Given the description of an element on the screen output the (x, y) to click on. 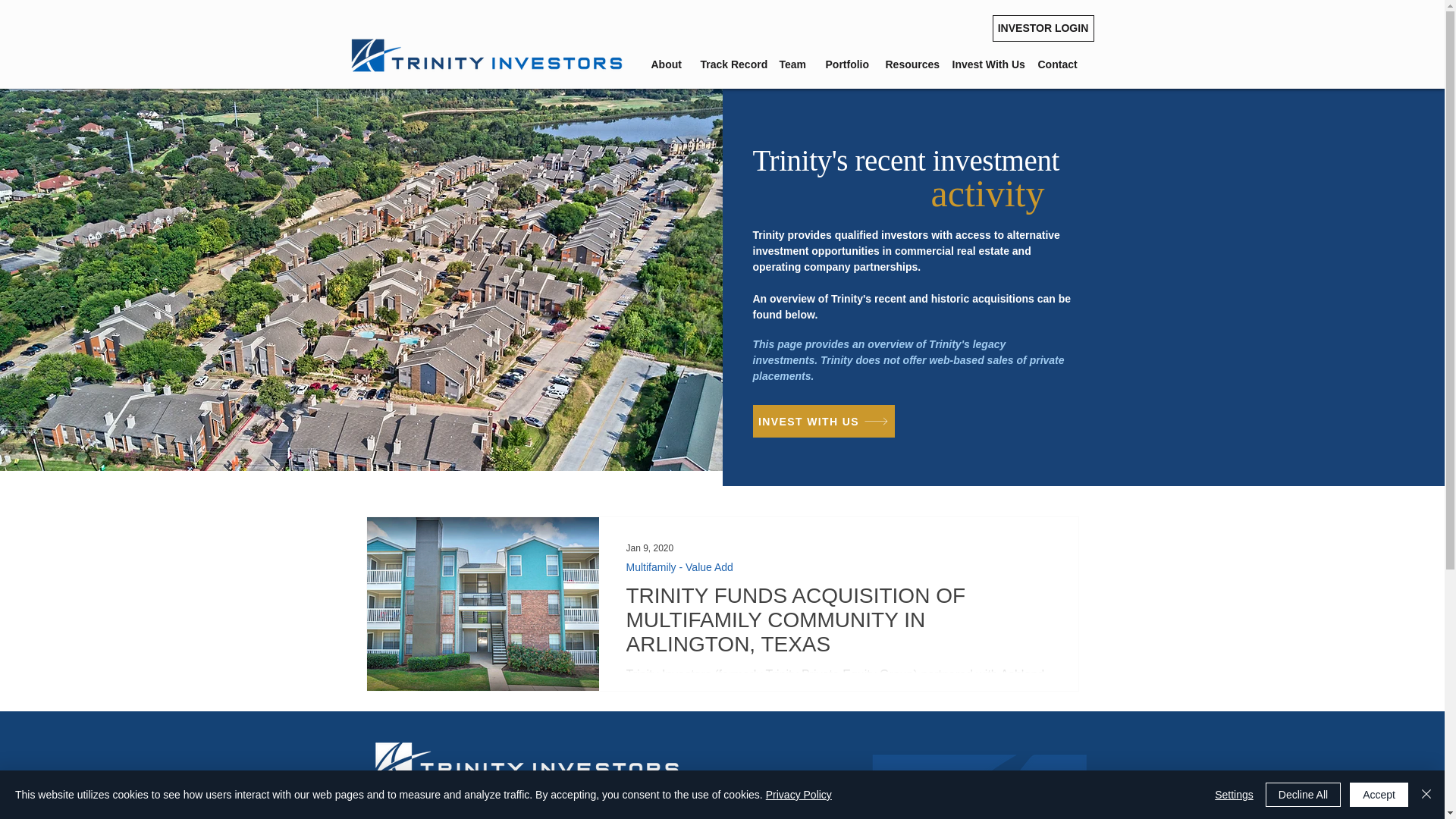
Multifamily - Value Add (679, 567)
Track Record (727, 64)
Trinity Investors Icon - Blue (1037, 785)
Invest With Us (983, 64)
Trinty Investors Logo (486, 55)
Privacy Policy (798, 794)
Resources (906, 64)
Trinity Investors Logo - White (526, 761)
Team (790, 64)
